Given the description of an element on the screen output the (x, y) to click on. 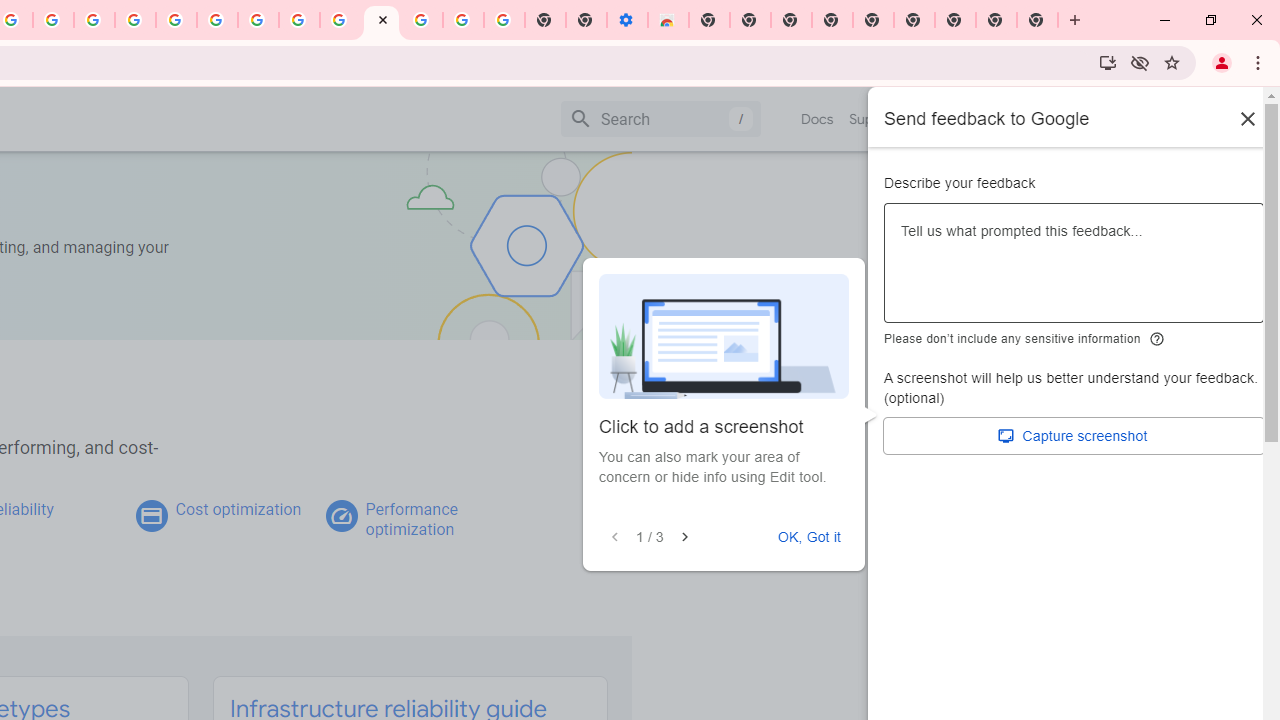
Cost optimization (238, 509)
Capture screenshot (1074, 436)
Create your Google Account (299, 20)
Sign in - Google Accounts (176, 20)
OK, Got it (809, 537)
Turn cookies on or off - Computer - Google Account Help (503, 20)
Support (874, 119)
Start free (1191, 118)
Next (684, 537)
Settings - Accessibility (626, 20)
